Given the description of an element on the screen output the (x, y) to click on. 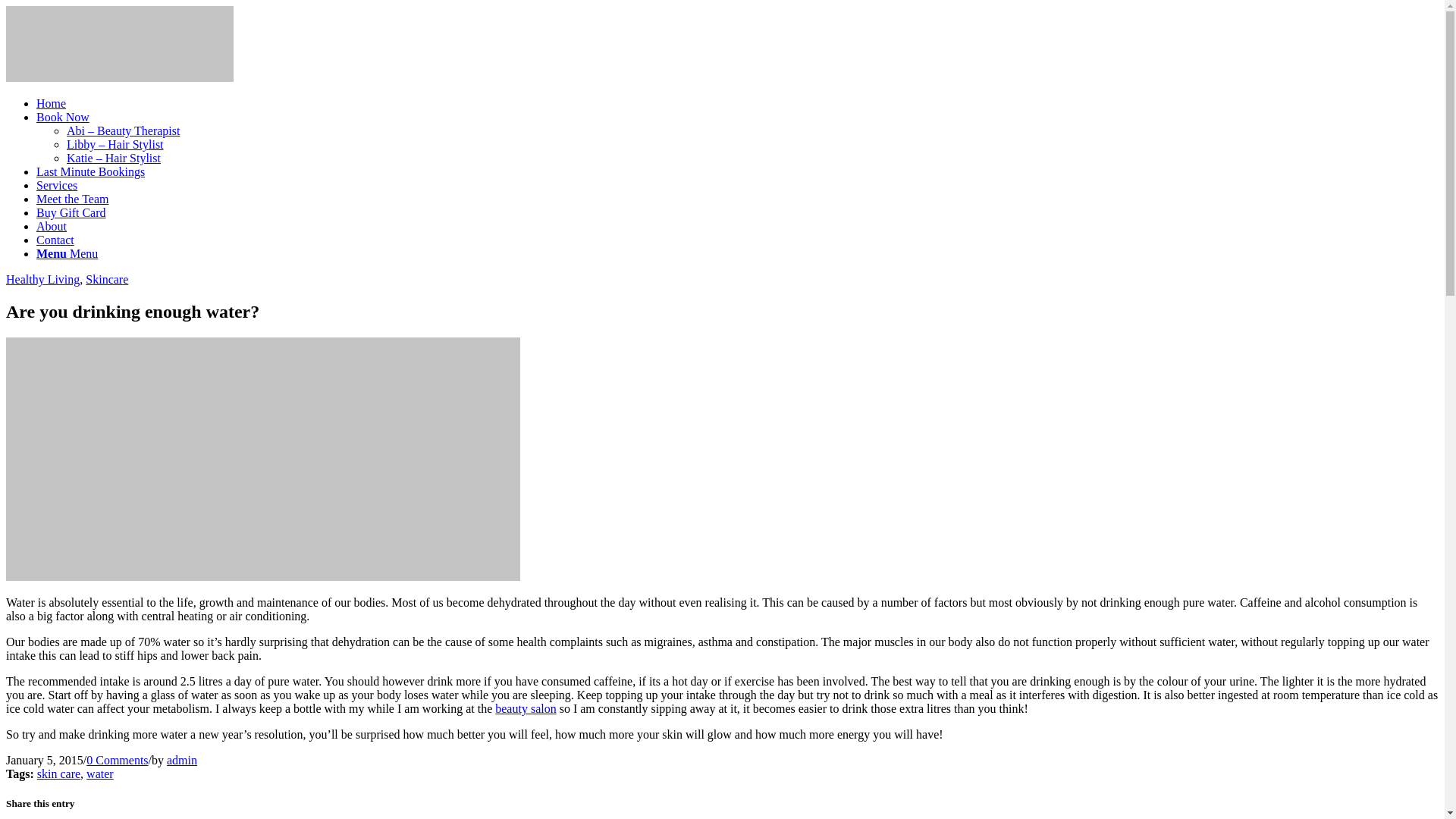
0 Comments (116, 759)
Contact (55, 239)
skin care (58, 773)
water (99, 773)
Last Minute Bookings (90, 171)
Home (50, 103)
admin (181, 759)
Buy Gift Card (71, 212)
About (51, 226)
Healthy Living (42, 278)
Posts by admin (181, 759)
Drink Water for healthy Skin (262, 576)
Skincare (106, 278)
Services (56, 185)
Menu Menu (66, 253)
